Given the description of an element on the screen output the (x, y) to click on. 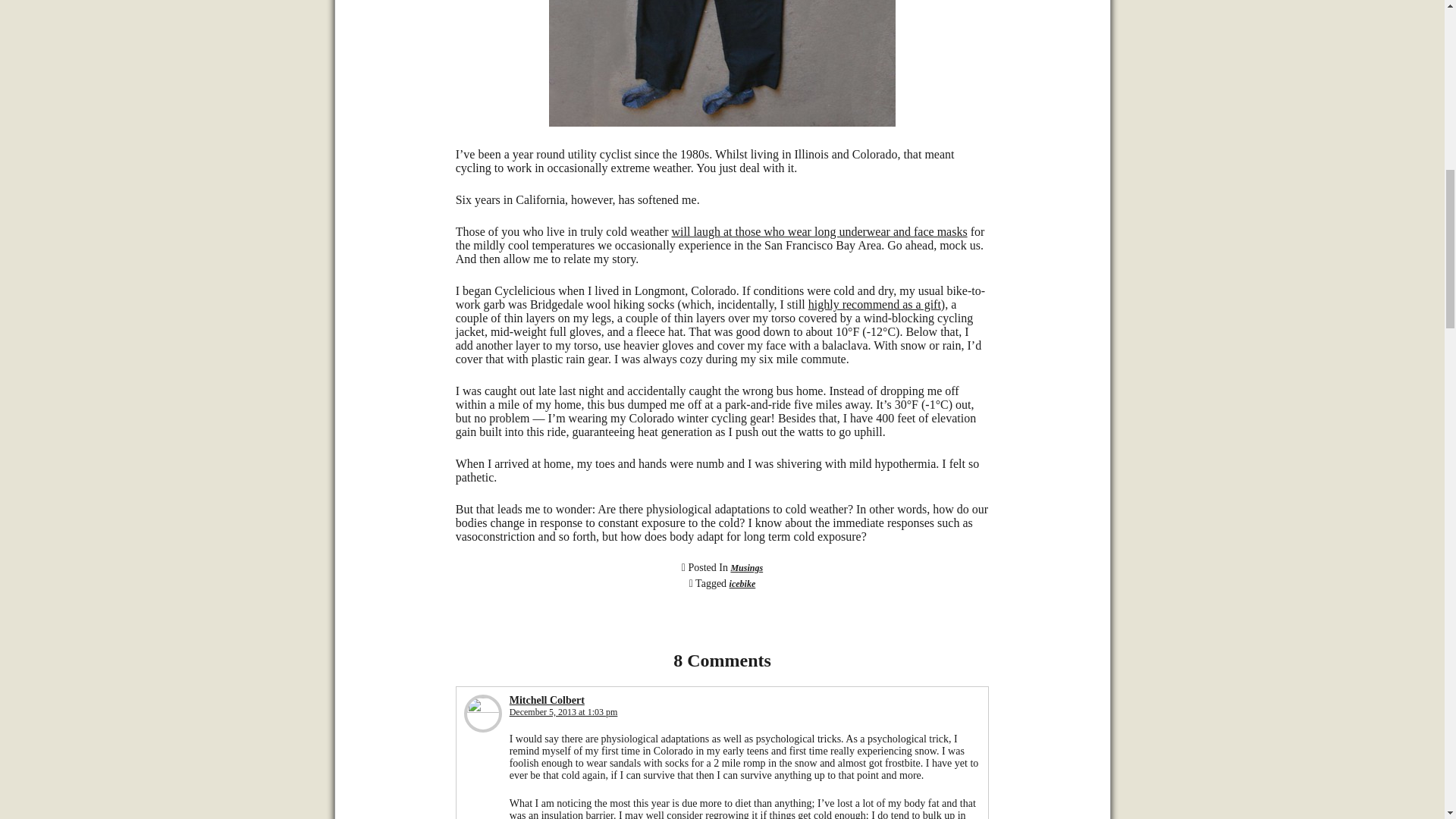
highly recommend as a gift (874, 304)
icebike (742, 583)
will laugh at those who wear long underwear and face masks (819, 231)
Musings (746, 567)
Mitchell Colbert (547, 699)
December 5, 2013 at 1:03 pm (563, 711)
